Given the description of an element on the screen output the (x, y) to click on. 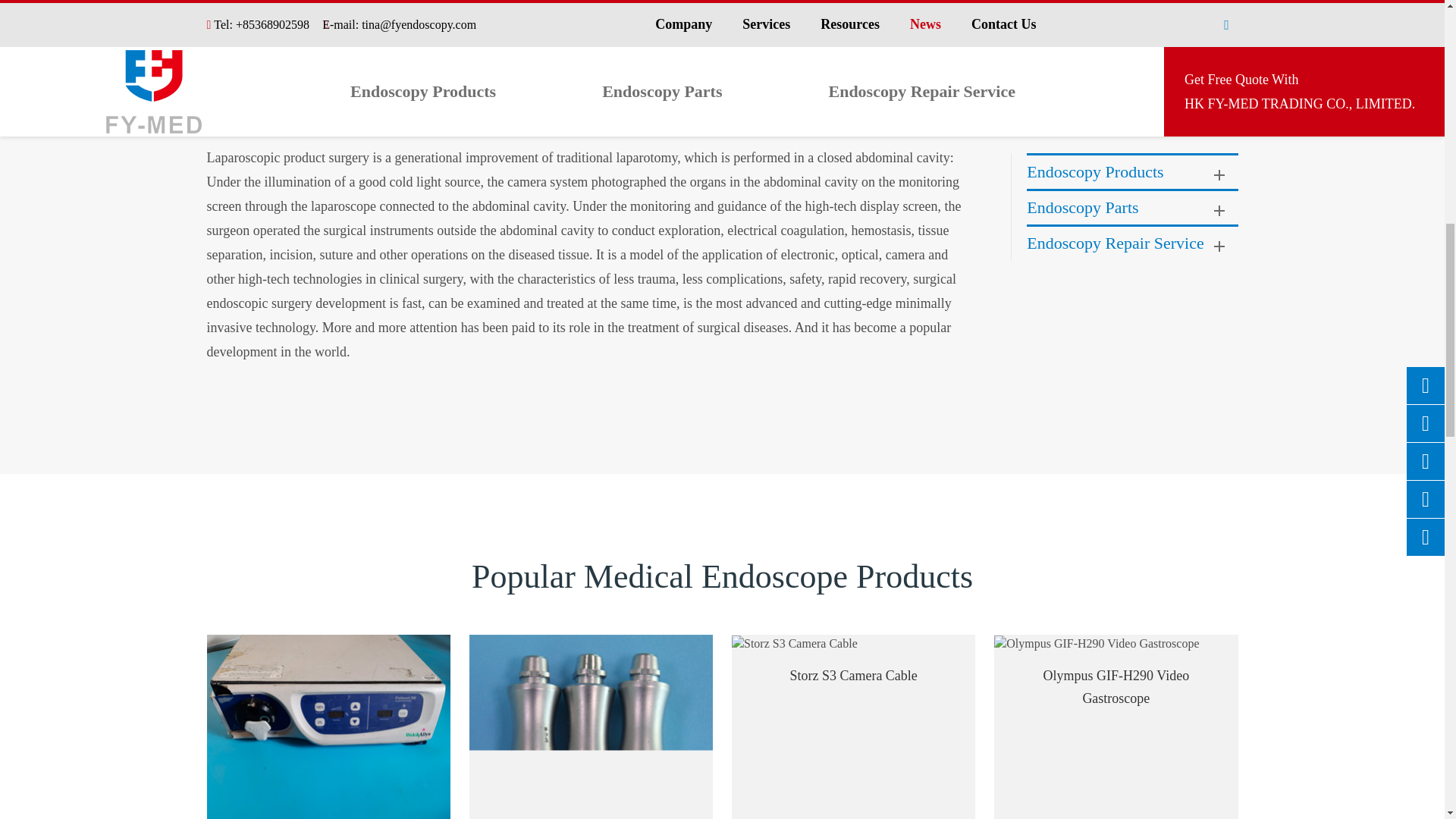
Storz S3 Camera Cable (794, 643)
Welch ALLYN PROXENON 350 Surgical Illuminator (327, 726)
Wolf 8558.24 Endoscope Connected Valve (590, 726)
Olympus GIF-H290 Video Gastroscope (1096, 643)
